Given the description of an element on the screen output the (x, y) to click on. 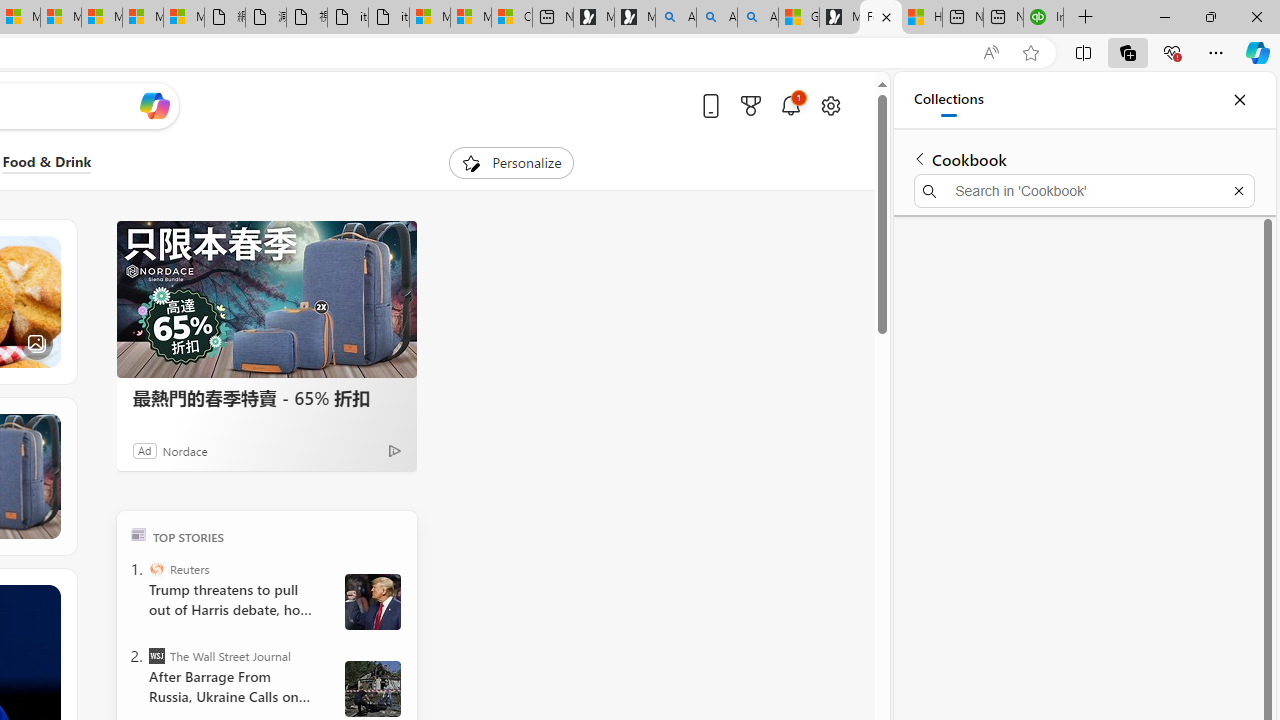
Exit search (1238, 190)
Food and Drink - MSN (881, 17)
Intuit QuickBooks Online - Quickbooks (1043, 17)
